Given the description of an element on the screen output the (x, y) to click on. 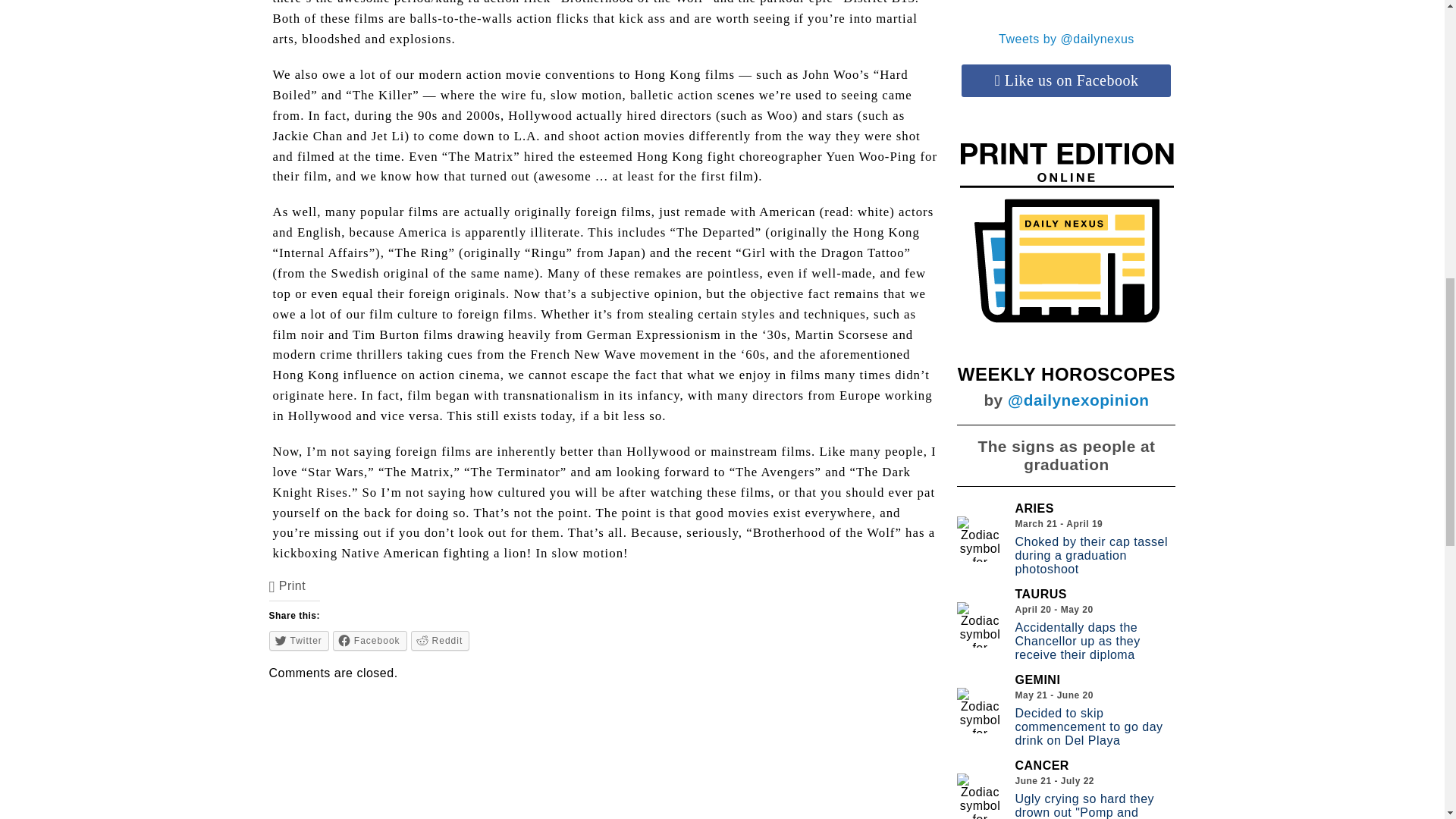
Click to share on Reddit (440, 640)
Click to share on Facebook (370, 640)
Click to share on Twitter (299, 640)
